Given the description of an element on the screen output the (x, y) to click on. 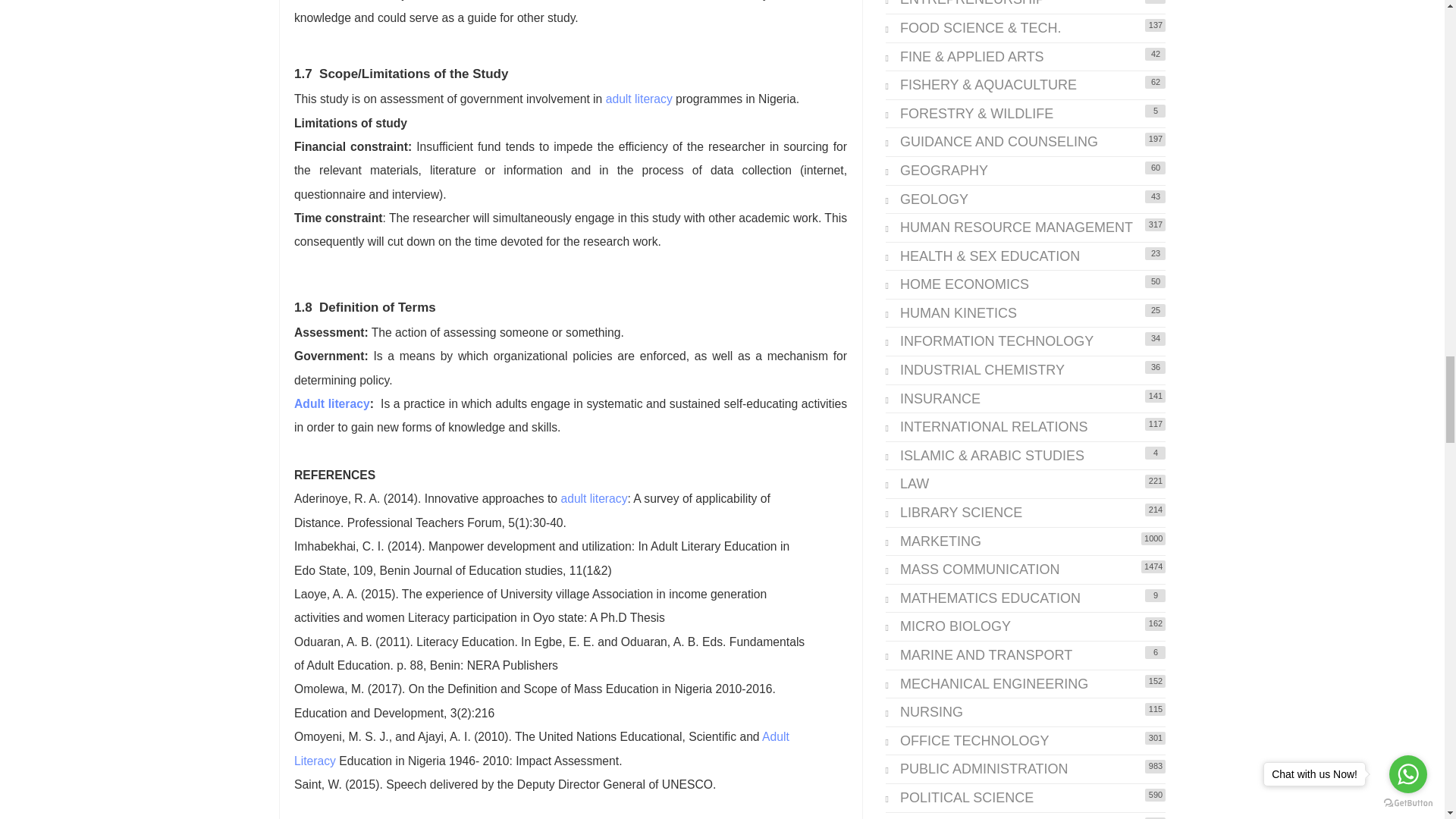
Adult literacy (331, 403)
Literacy (315, 759)
adult literacy (638, 98)
Adult (775, 736)
adult literacy (593, 498)
